Given the description of an element on the screen output the (x, y) to click on. 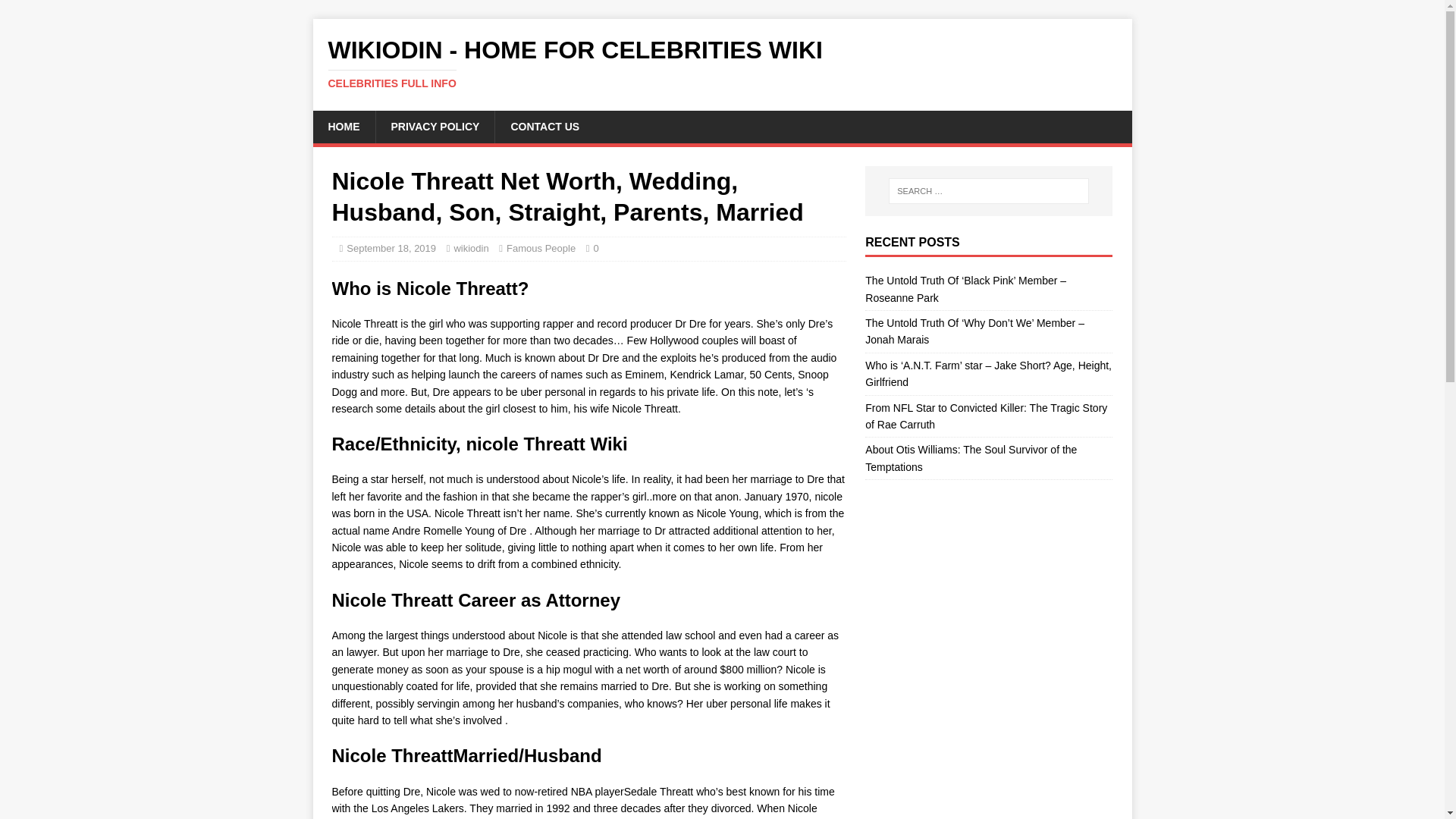
wikiodin (469, 247)
PRIVACY POLICY (434, 126)
Wikiodin - Home for celebrities wiki (721, 63)
About Otis Williams: The Soul Survivor of the Temptations (970, 457)
CONTACT US (544, 126)
September 18, 2019 (390, 247)
HOME (343, 126)
Famous People (721, 63)
